Given the description of an element on the screen output the (x, y) to click on. 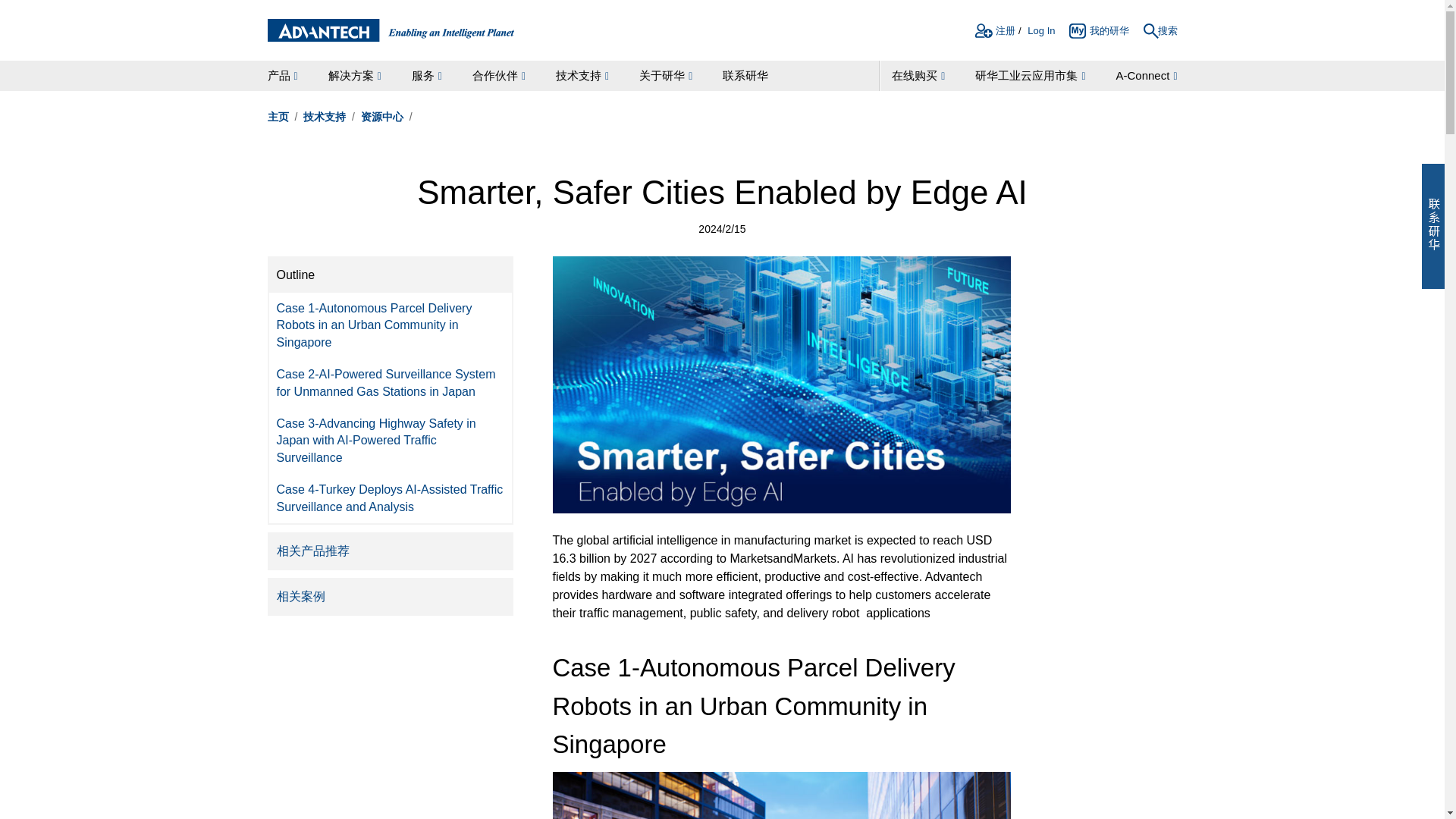
Advantech Homepage (389, 29)
Log In (1040, 32)
